Given the description of an element on the screen output the (x, y) to click on. 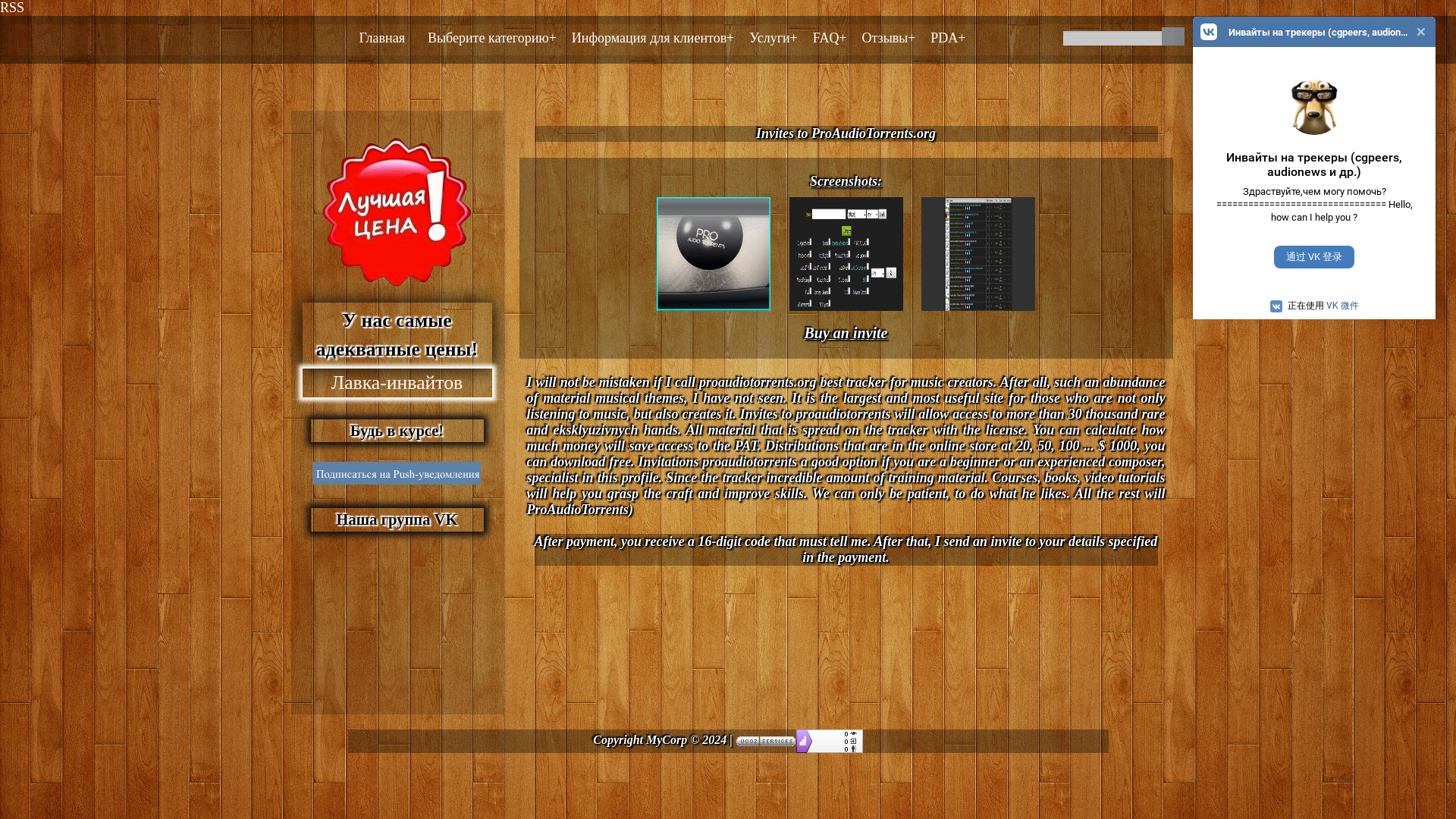
Click to enlarge (713, 313)
Back to the choice of payment method (844, 333)
RSS (12, 7)
Click to enlarge (845, 313)
Click to enlarge (978, 313)
